Given the description of an element on the screen output the (x, y) to click on. 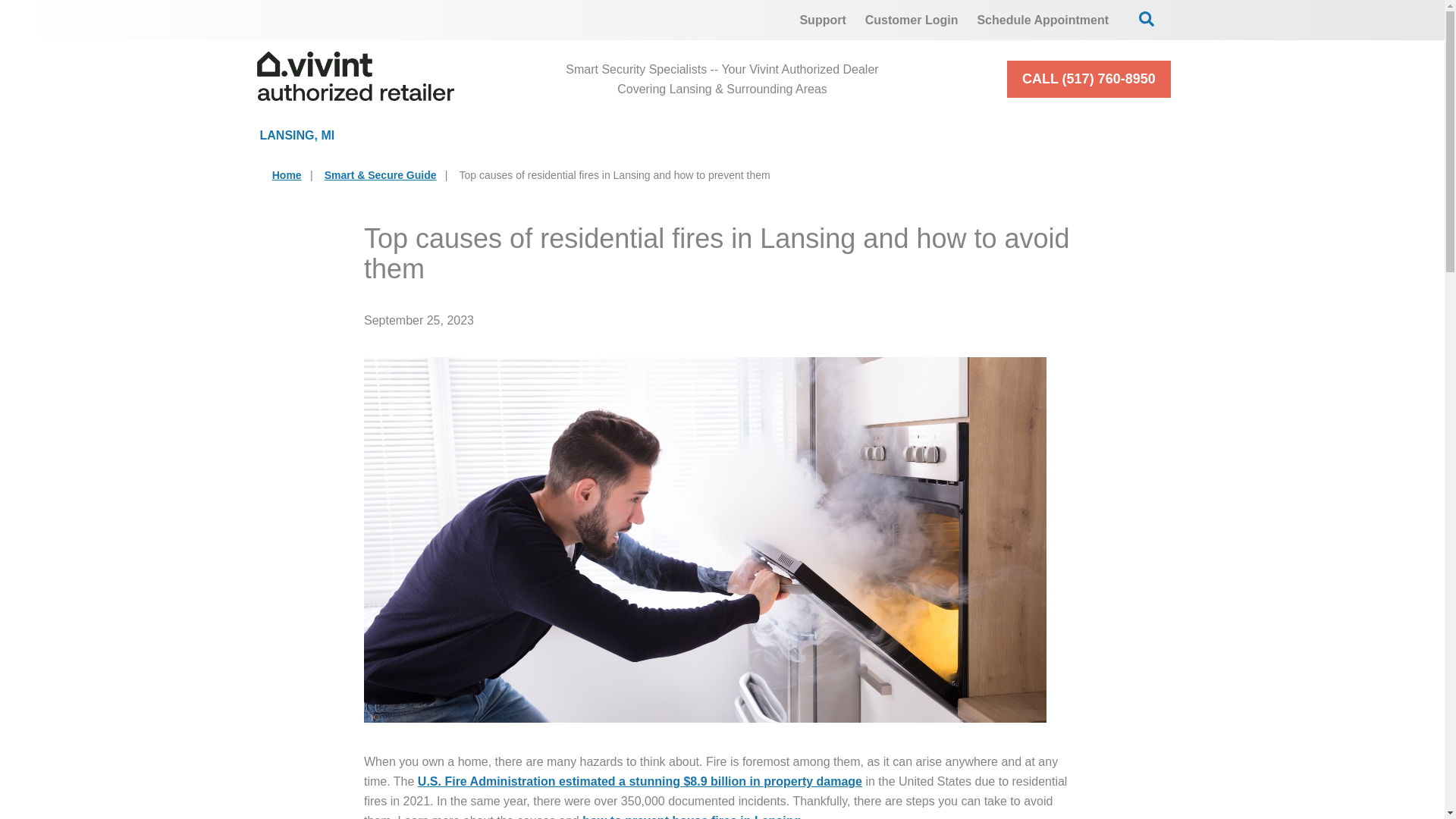
Support (822, 20)
Cameras (655, 135)
how to prevent house fires in Lansing (691, 816)
Home Security (478, 135)
Home (286, 174)
How to prevent house fires (691, 816)
Open Search (1146, 18)
Customer Login (911, 20)
Smart Home Automation (861, 135)
Schedule Appointment (1042, 20)
